Given the description of an element on the screen output the (x, y) to click on. 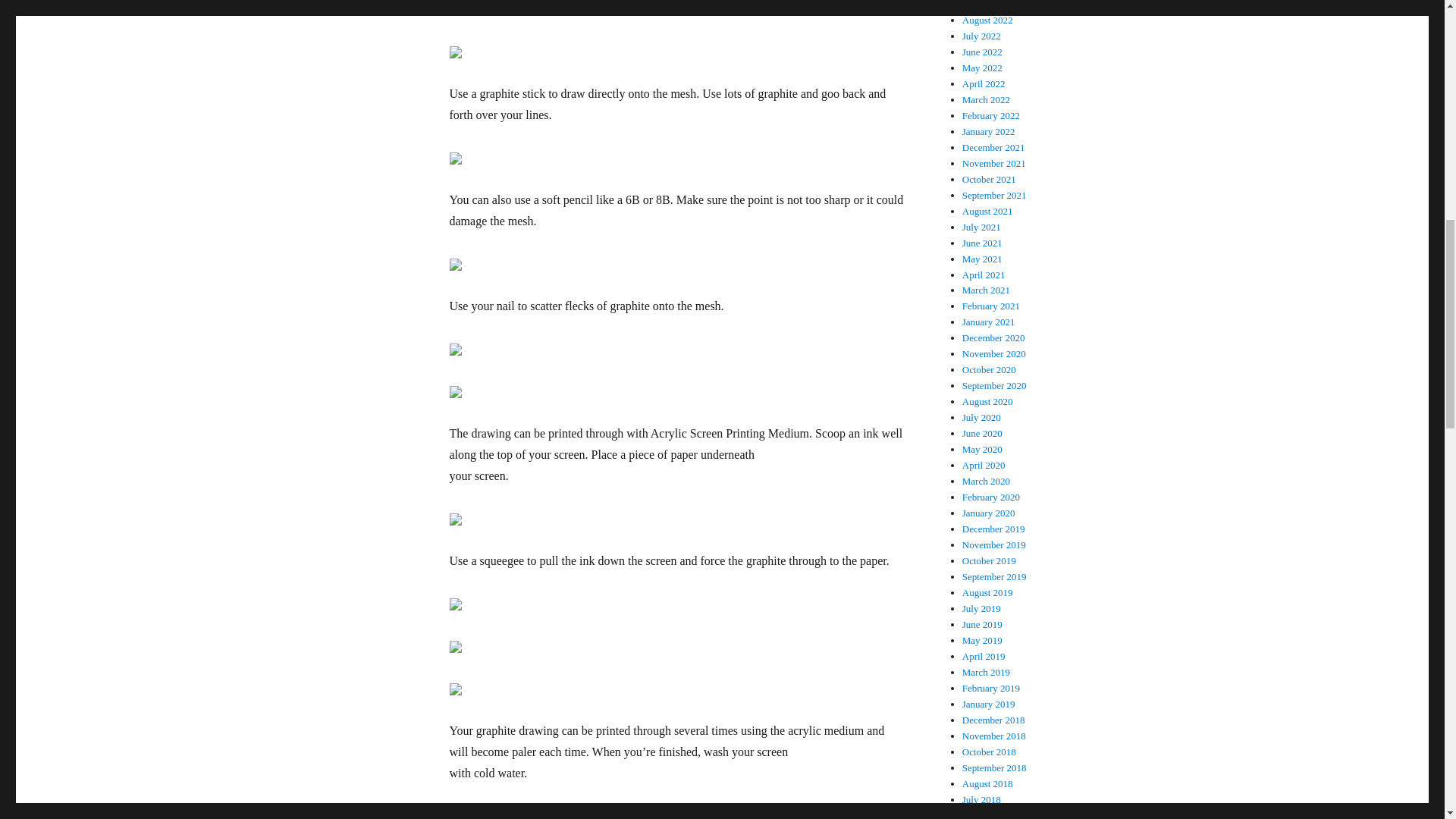
November 2021 (994, 163)
September 2022 (994, 4)
January 2022 (988, 131)
July 2022 (981, 35)
April 2022 (984, 83)
February 2022 (991, 115)
June 2022 (982, 51)
May 2022 (982, 67)
December 2021 (993, 147)
March 2022 (986, 99)
